Given the description of an element on the screen output the (x, y) to click on. 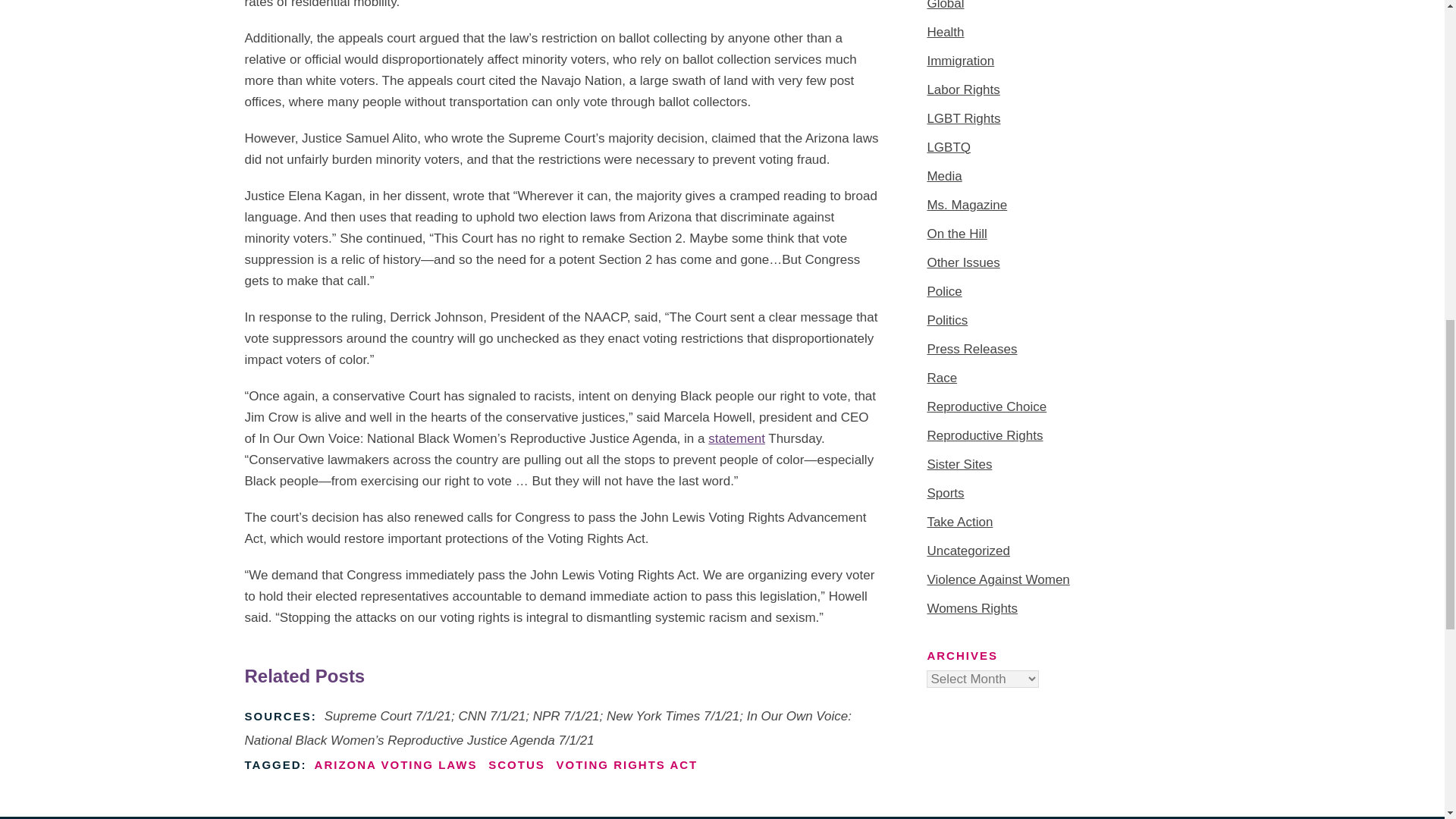
ARIZONA VOTING LAWS (395, 764)
statement (736, 438)
SCOTUS (515, 764)
